Given the description of an element on the screen output the (x, y) to click on. 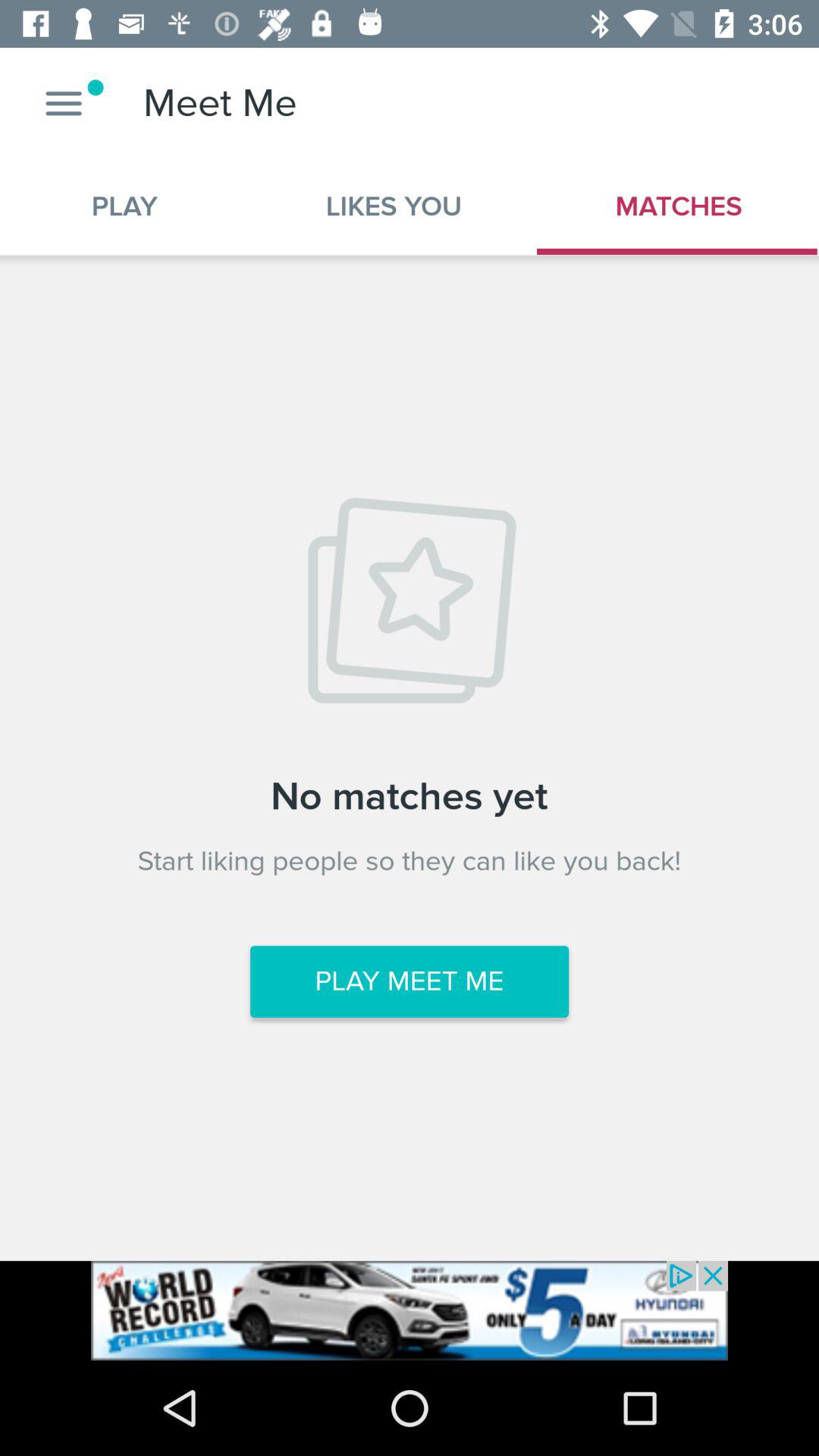
open navigation menu (63, 103)
